Given the description of an element on the screen output the (x, y) to click on. 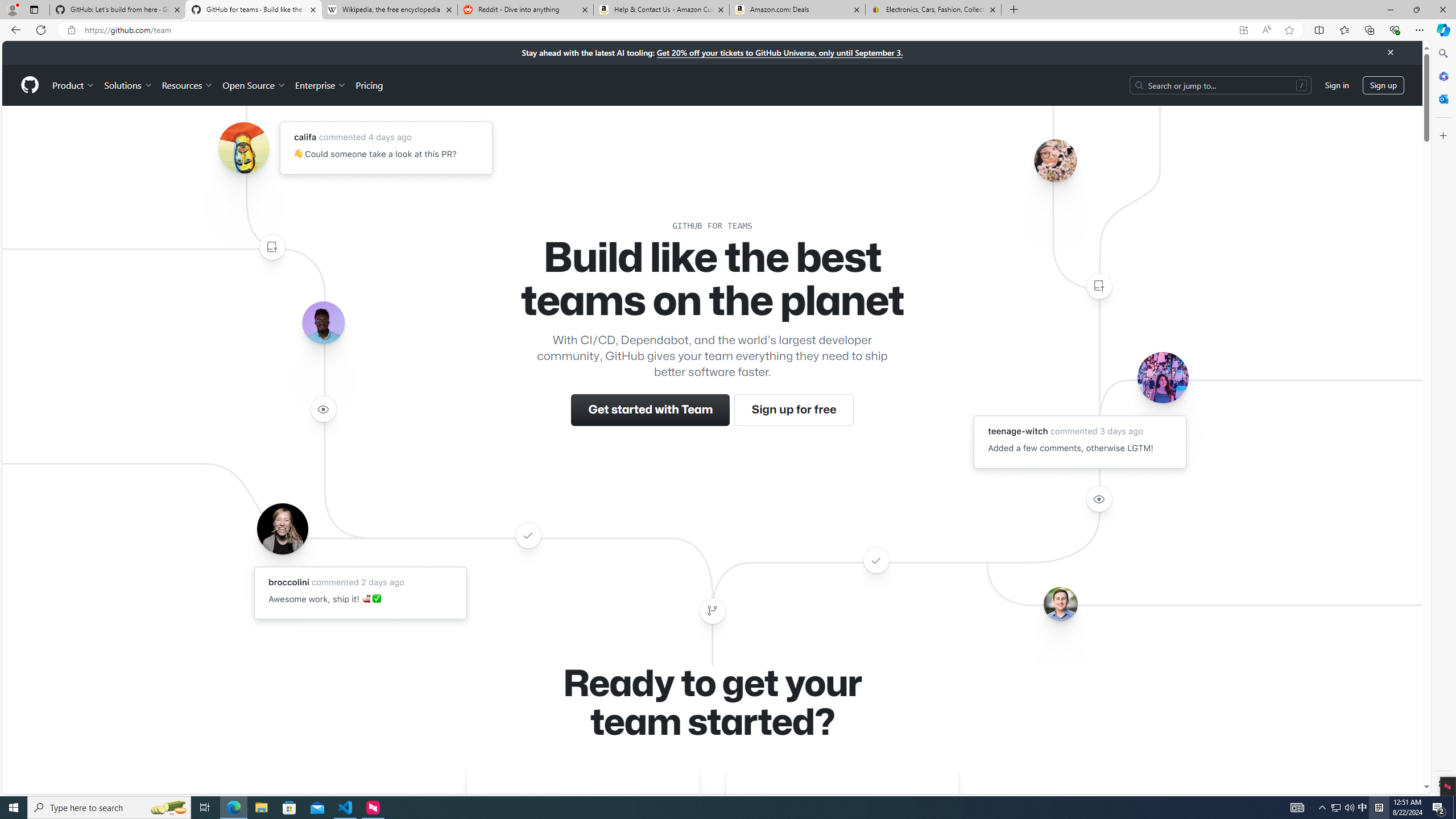
App available. Install GitHub (1243, 29)
